Given the description of an element on the screen output the (x, y) to click on. 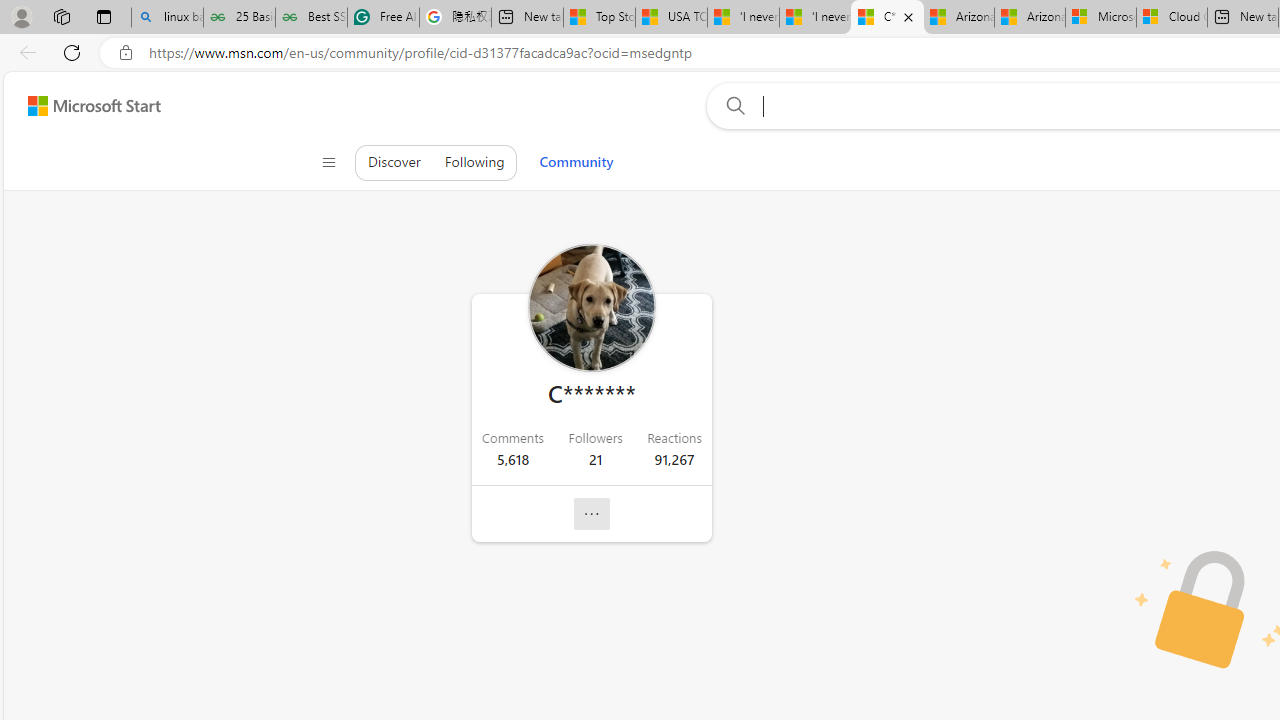
Class: control icon-only (329, 162)
Profile Picture (591, 308)
linux basic - Search (167, 17)
C******* | Trusted Community Engagement and Contributions (887, 17)
Class: cwt-icon-vector (591, 514)
Cloud Computing Services | Microsoft Azure (1171, 17)
